Given the description of an element on the screen output the (x, y) to click on. 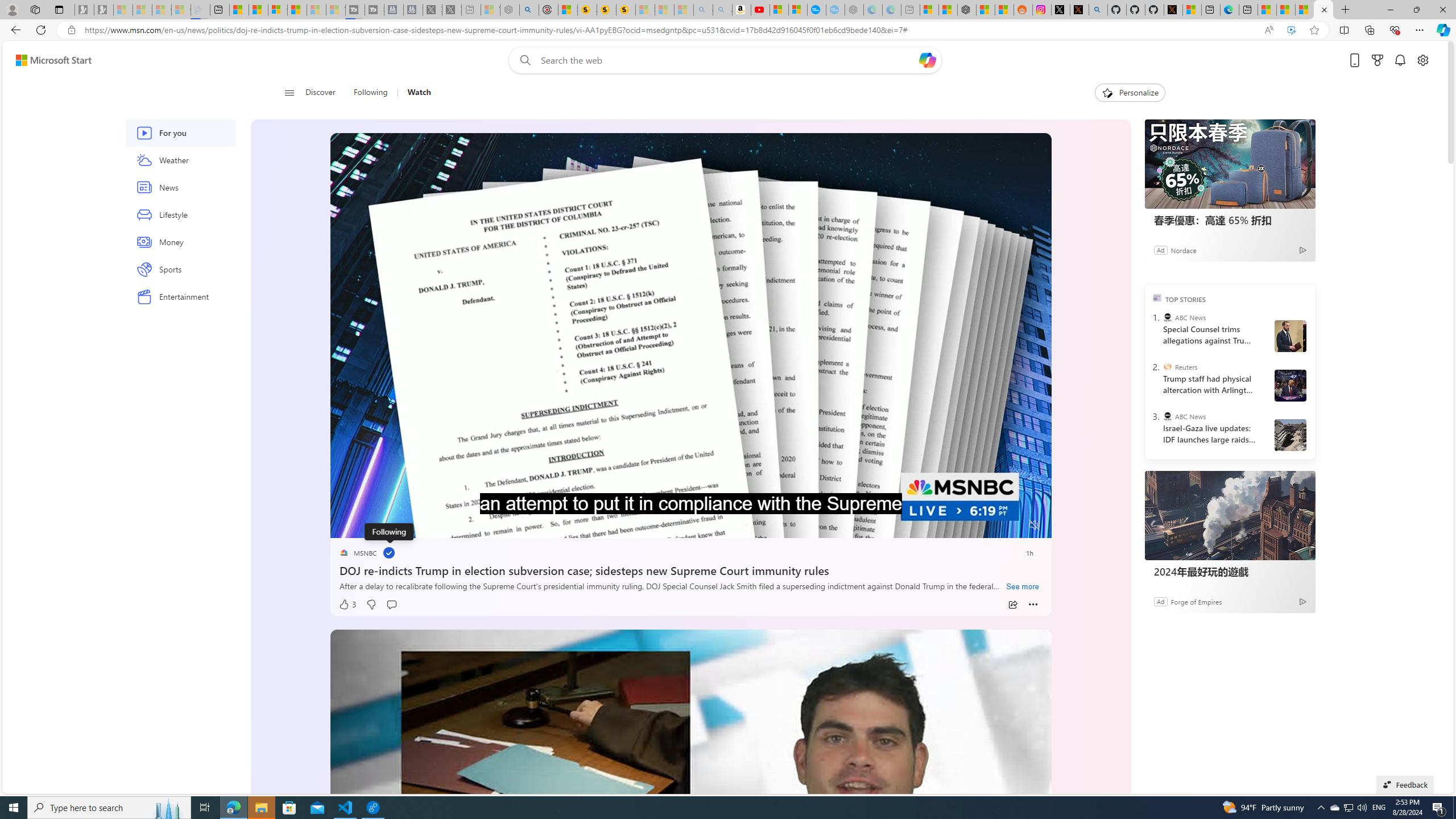
help.x.com | 524: A timeout occurred (1079, 9)
Skip to content (49, 59)
Nordace - Duffels (966, 9)
Reuters (1167, 366)
Open settings (1423, 60)
